Given the description of an element on the screen output the (x, y) to click on. 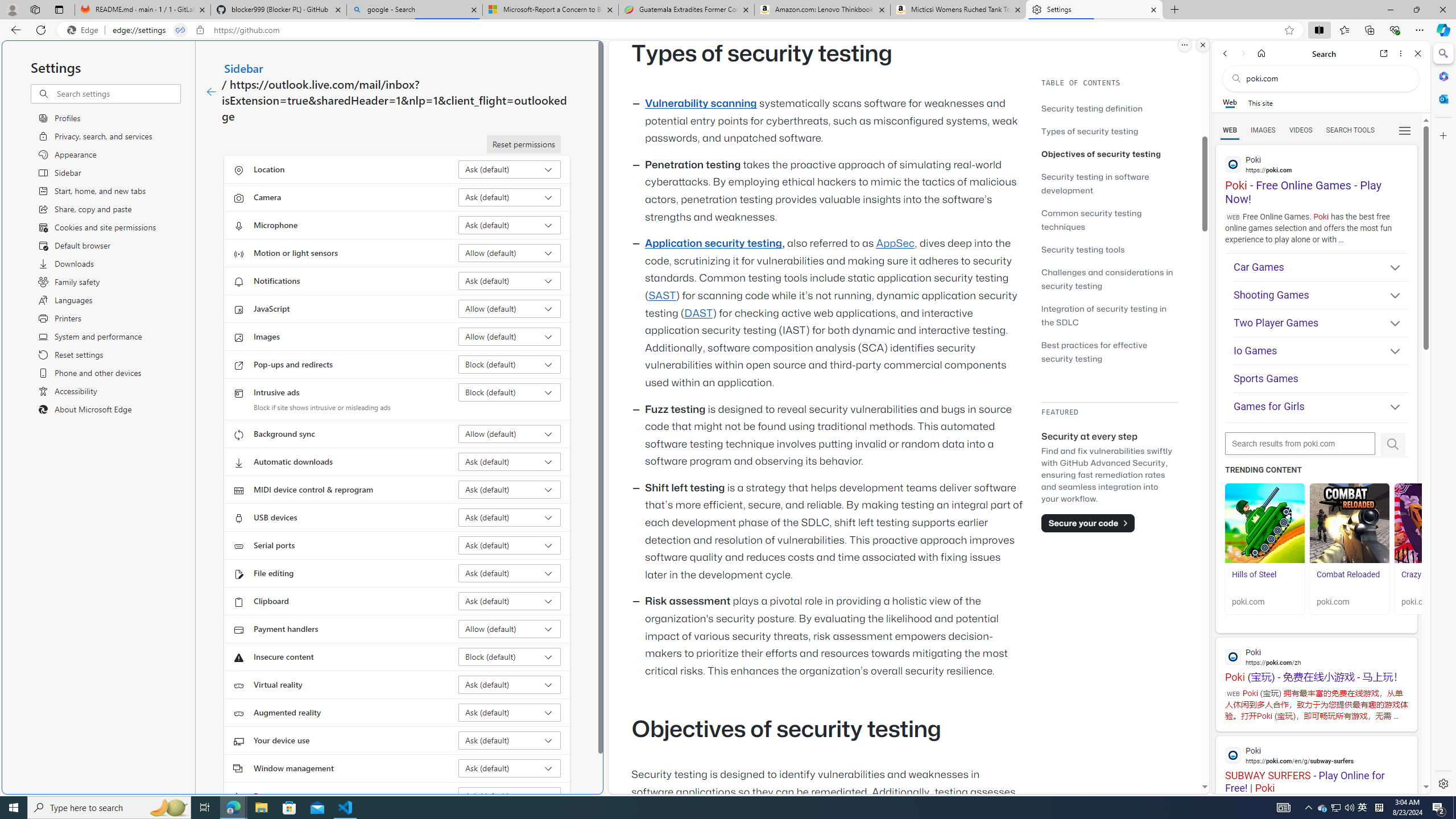
Tabs in split screen (180, 29)
DAST (698, 312)
Go back to Sidebar page. (210, 91)
Sports Games (1320, 379)
